Given the description of an element on the screen output the (x, y) to click on. 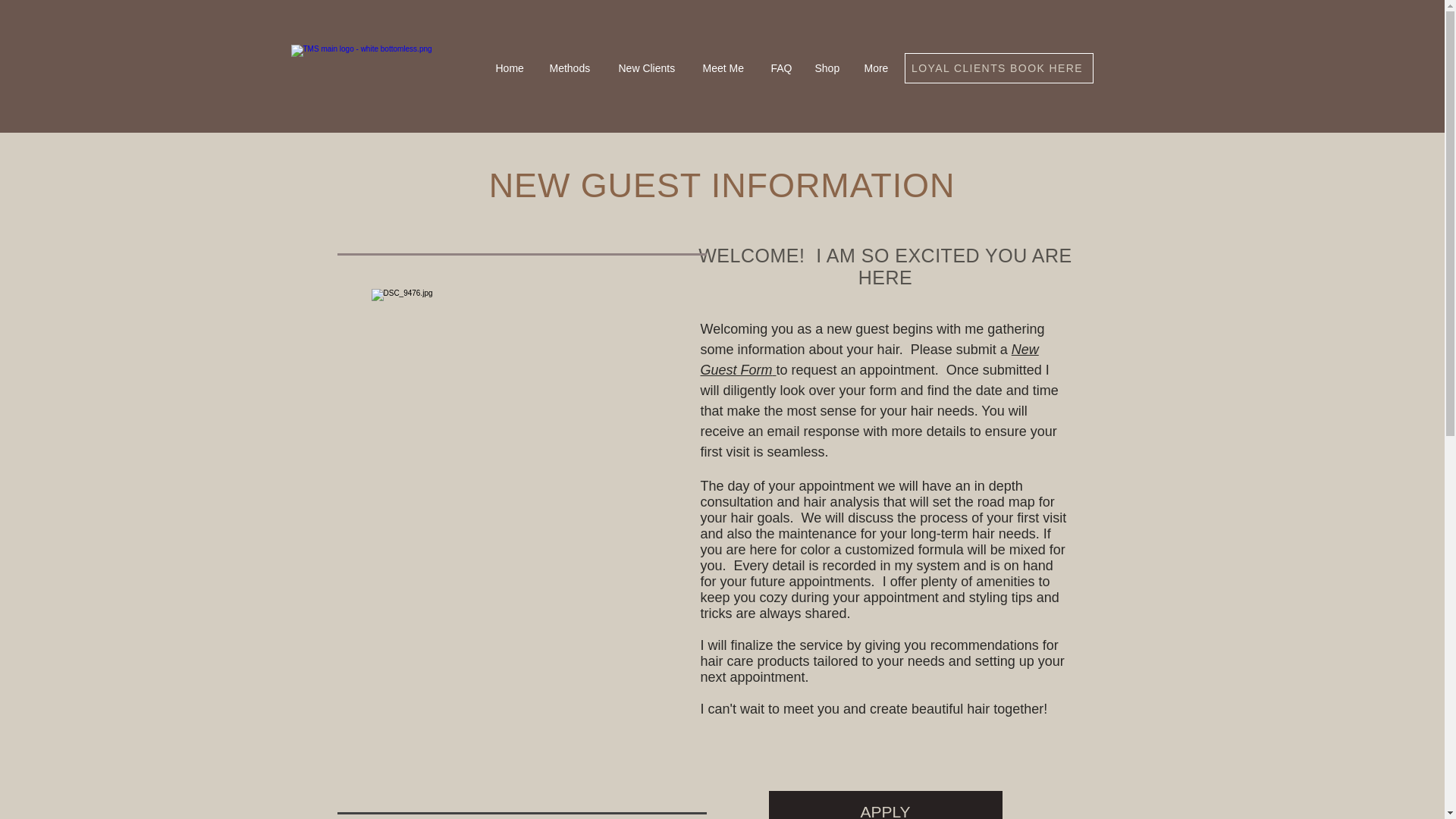
Meet Me (725, 68)
LOYAL CLIENTS BOOK HERE (998, 68)
Home (510, 68)
FAQ (781, 68)
Methods (572, 68)
Shop (828, 68)
APPLY (885, 805)
New Clients (648, 68)
New Guest Form (869, 359)
